Given the description of an element on the screen output the (x, y) to click on. 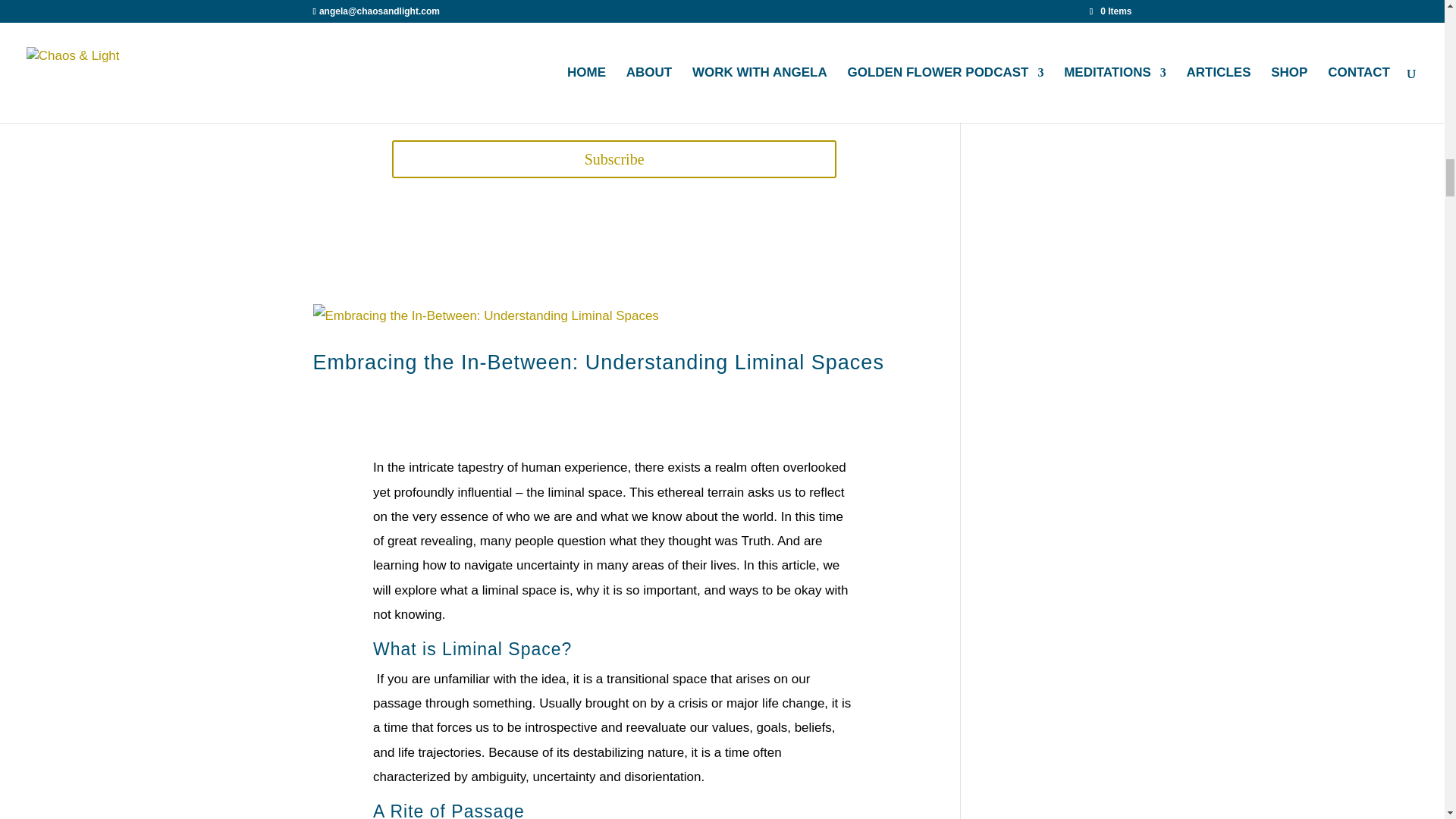
Embracing the In-Between: Understanding Liminal Spaces (598, 362)
Subscribe (613, 159)
